Given the description of an element on the screen output the (x, y) to click on. 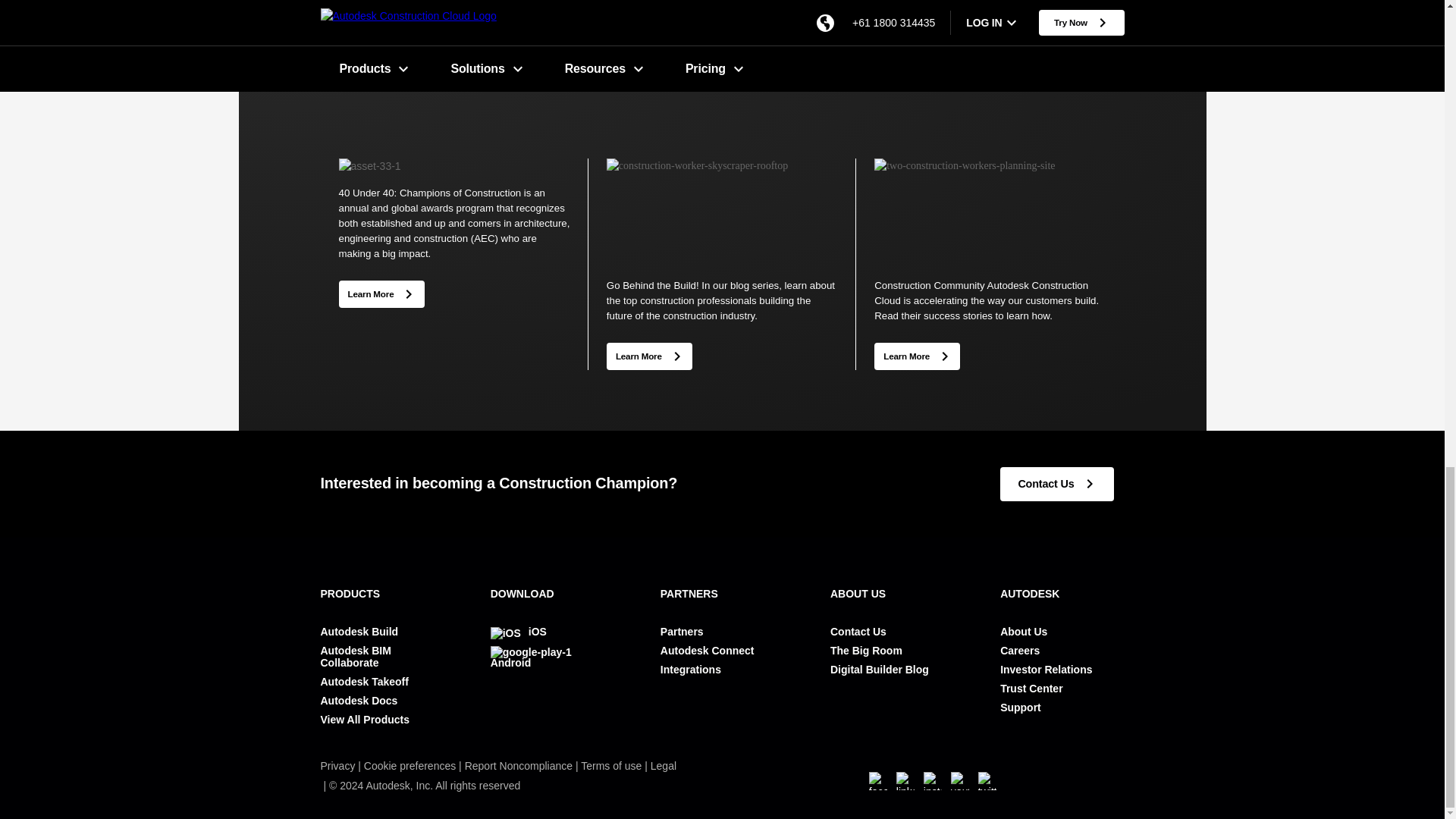
Integrations (690, 669)
Autodesk BIM Collaborate (382, 656)
PRODUCTS (382, 593)
DOWNLOAD (552, 593)
Learn More (917, 355)
Learn More (917, 356)
Learn More (380, 292)
Android (552, 656)
ABOUT US (891, 593)
Autodesk Connect (707, 650)
Learn More (380, 293)
Learn More (650, 356)
Autodesk Docs (358, 700)
Digital Builder Blog (878, 669)
iOS (518, 631)
